Given the description of an element on the screen output the (x, y) to click on. 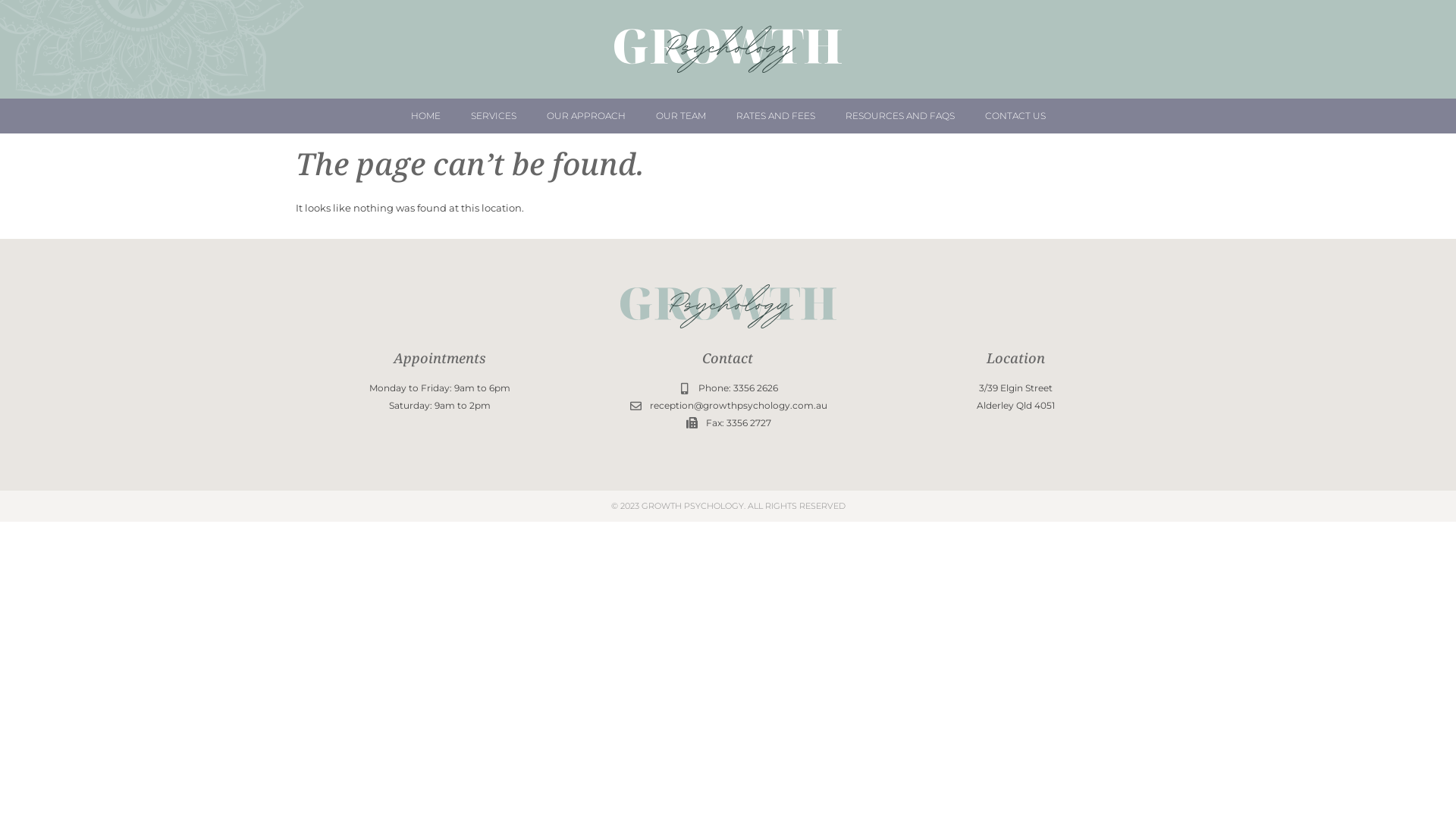
HOME Element type: text (425, 115)
RESOURCES AND FAQS Element type: text (899, 115)
OUR TEAM Element type: text (680, 115)
CONTACT US Element type: text (1014, 115)
OUR APPROACH Element type: text (585, 115)
RATES AND FEES Element type: text (774, 115)
SERVICES Element type: text (492, 115)
